Given the description of an element on the screen output the (x, y) to click on. 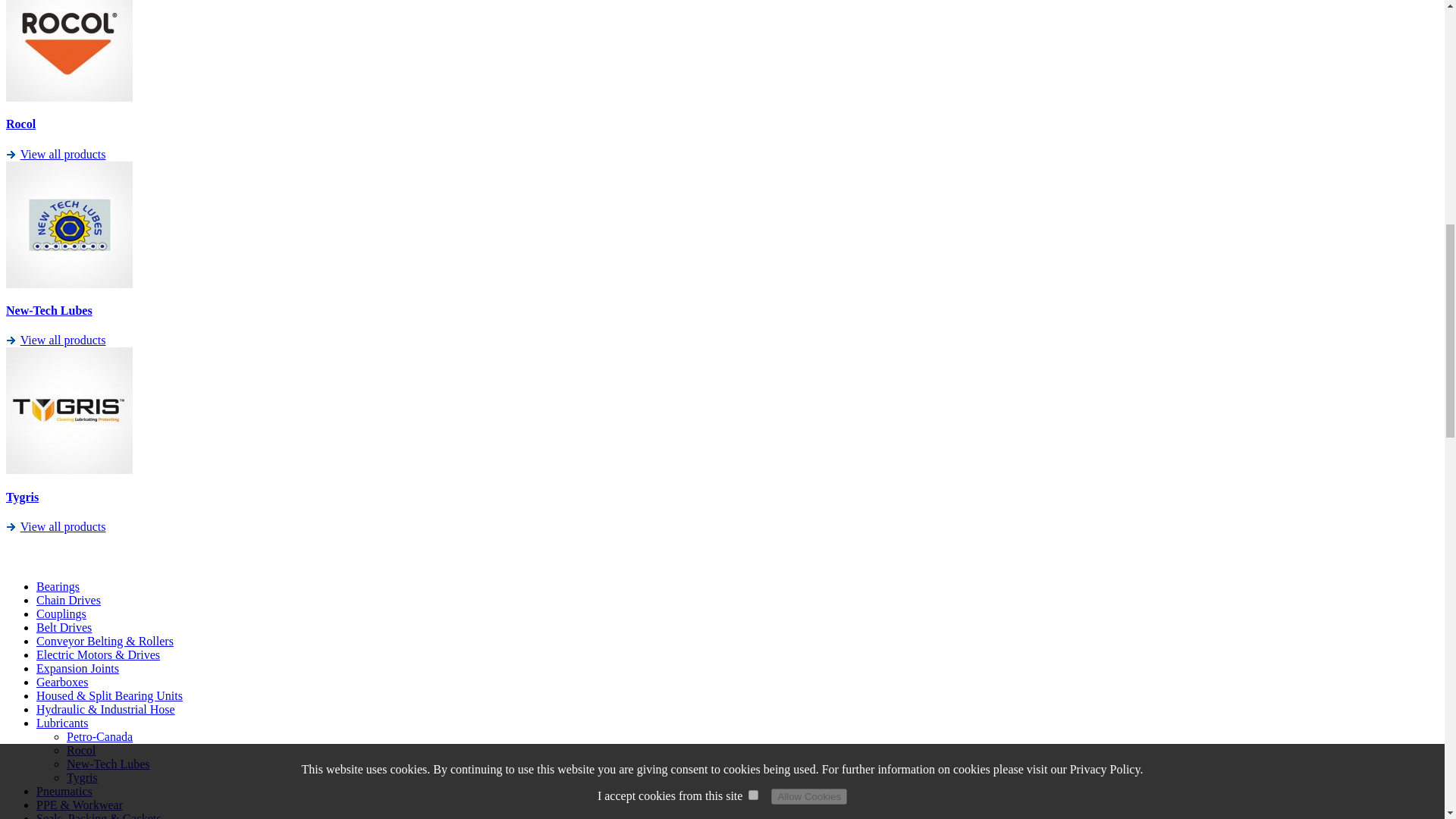
Couplings (60, 613)
Tygris (22, 496)
View all products (63, 154)
Rocol (19, 123)
Gearboxes (61, 681)
Expansion Joints (77, 667)
View all products (63, 339)
View all products (63, 526)
Chain Drives (68, 599)
New-Tech Lubes (49, 309)
